Given the description of an element on the screen output the (x, y) to click on. 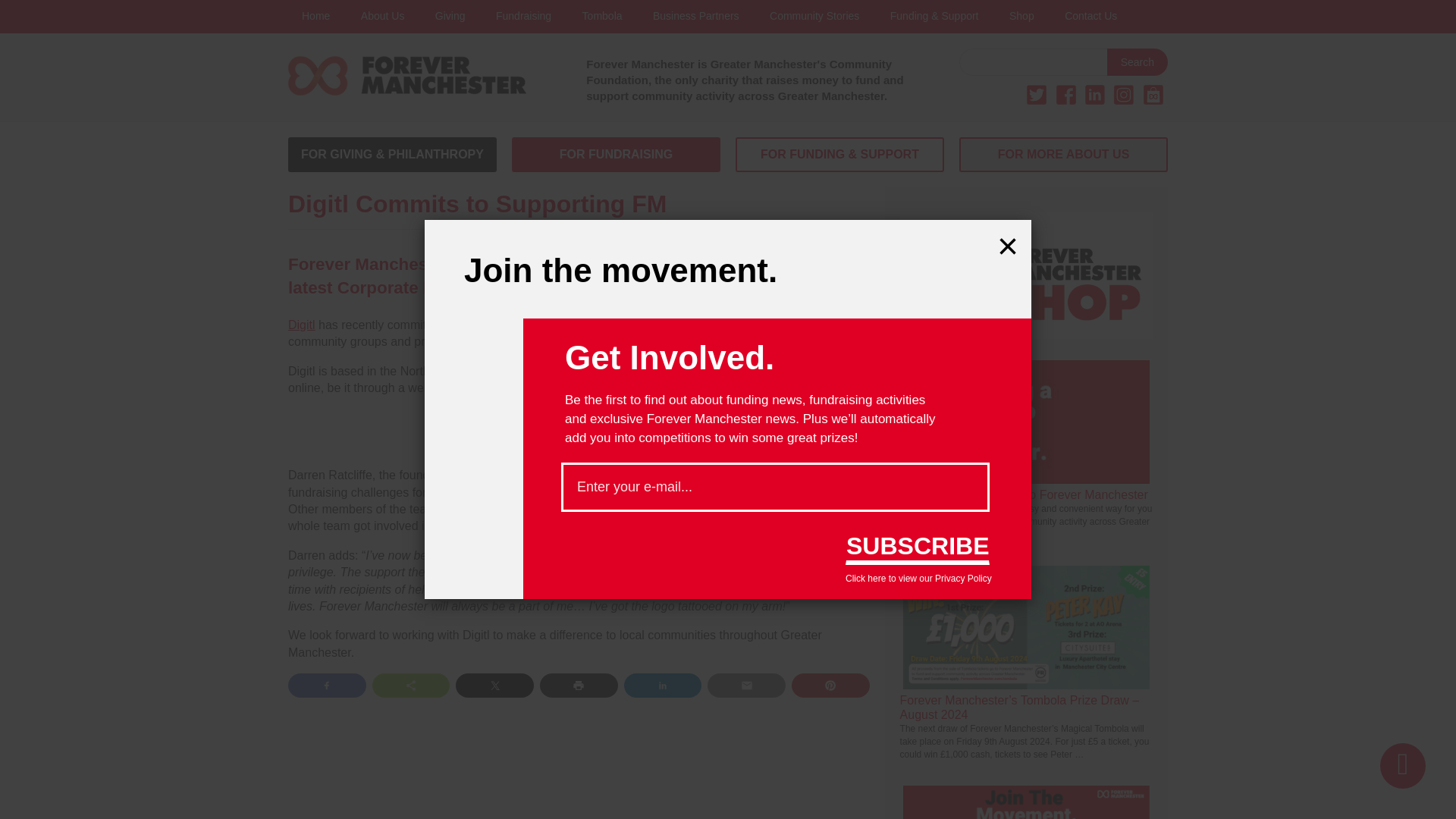
For Fundraising (616, 154)
Shop (1021, 16)
FOR MORE ABOUT US (1063, 154)
Contact Us (1091, 16)
Search (1136, 62)
For More About Us (1063, 154)
FOR FUNDRAISING (616, 154)
Search (1136, 62)
Fundraising (522, 16)
Tombola (602, 16)
Permalink to For Making a Donation to Forever Manchester (1023, 494)
Business Partners (695, 16)
Home (315, 16)
About Us (383, 16)
Community Stories (813, 16)
